Given the description of an element on the screen output the (x, y) to click on. 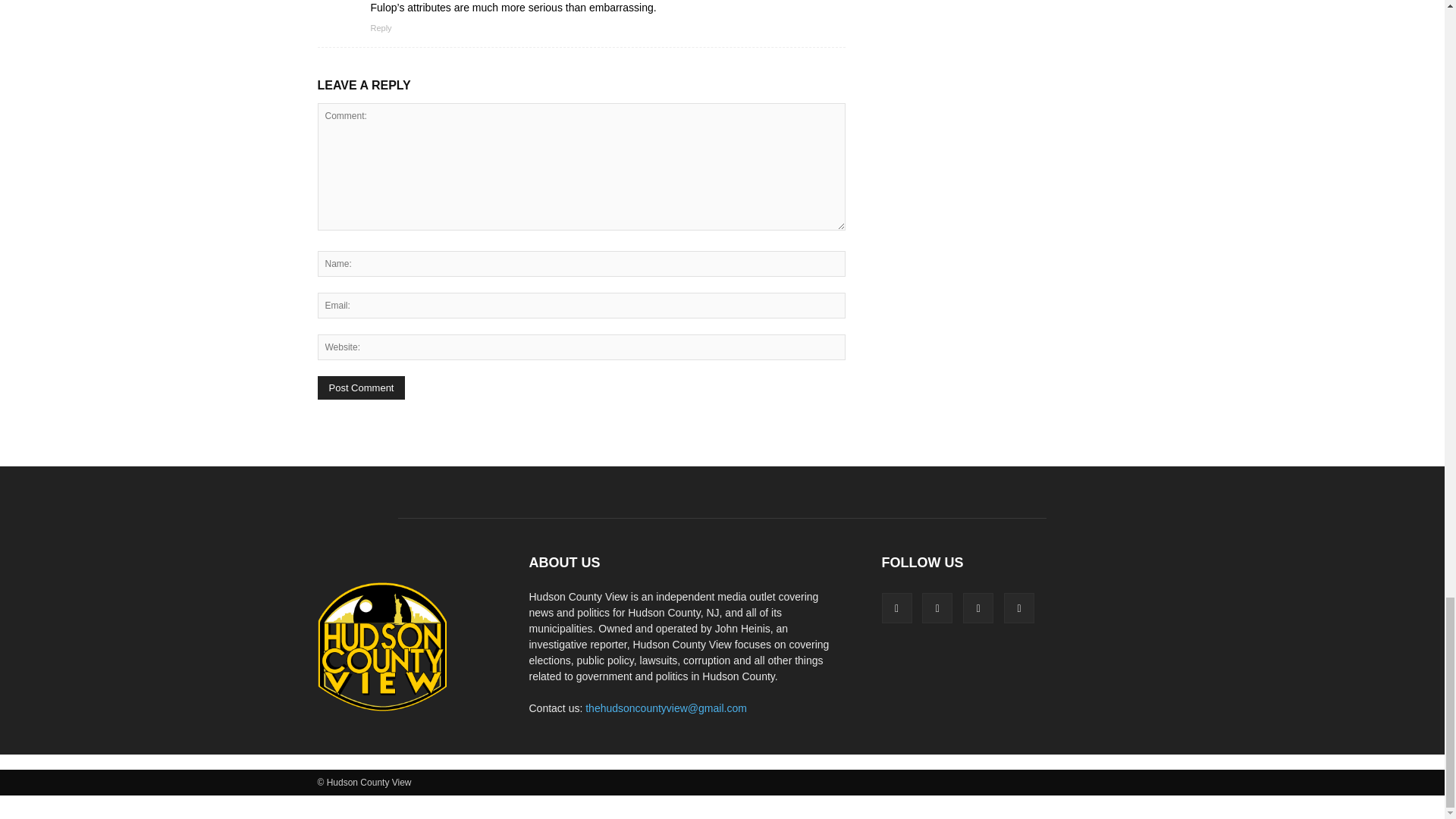
Post Comment (360, 387)
